Given the description of an element on the screen output the (x, y) to click on. 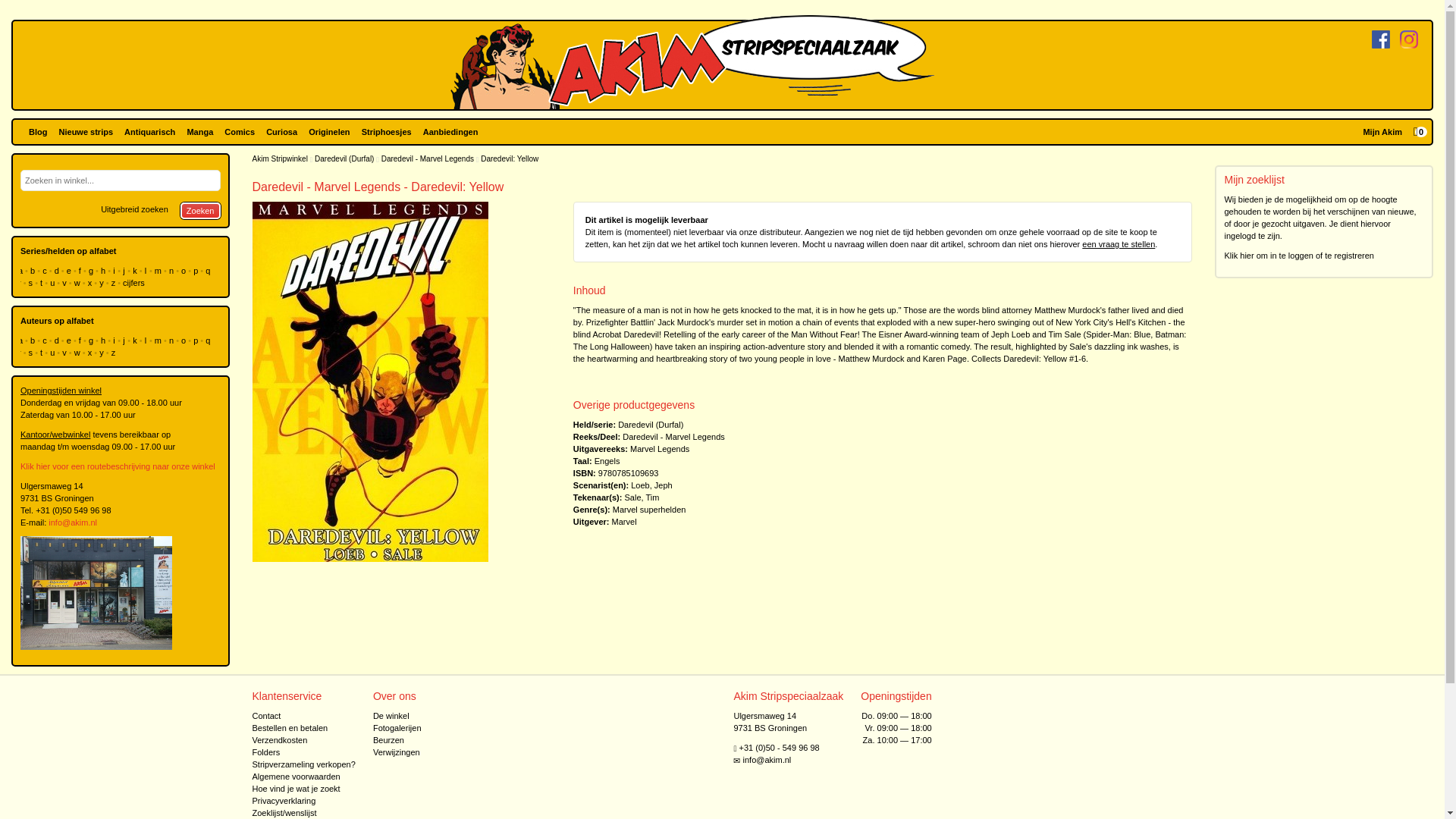
Originelen (328, 131)
Mijn Akim (1382, 131)
Klik hier om in te loggen of te registreren (1299, 255)
Nieuwe strips (86, 131)
Striphoesjes (386, 131)
Daredevil - Marvel Legends (674, 436)
Manga (199, 131)
Comics (239, 131)
0 (1420, 131)
Loeb, Jeph (650, 484)
een vraag te stellen (1117, 243)
Zoeken (200, 210)
Blog (37, 131)
Antiquarisch (149, 131)
Volg ons op Facebook (1380, 39)
